Given the description of an element on the screen output the (x, y) to click on. 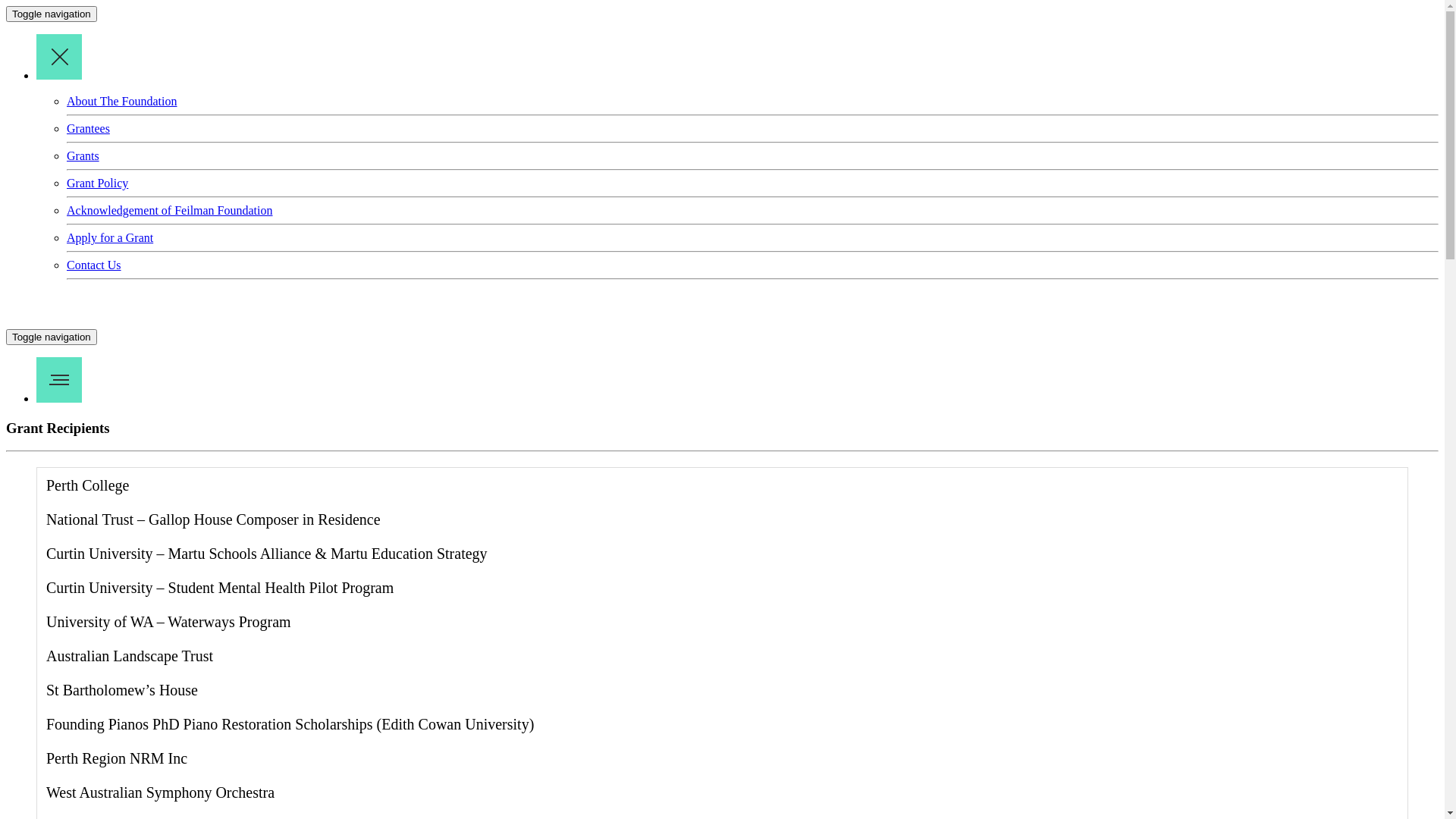
Apply for a Grant Element type: text (109, 237)
Toggle navigation Element type: text (51, 337)
About The Foundation Element type: text (121, 100)
Contact Us Element type: text (93, 264)
Acknowledgement of Feilman Foundation Element type: text (169, 209)
Grant Policy Element type: text (97, 182)
Grants Element type: text (82, 155)
Grantees Element type: text (87, 128)
Toggle navigation Element type: text (51, 13)
